Given the description of an element on the screen output the (x, y) to click on. 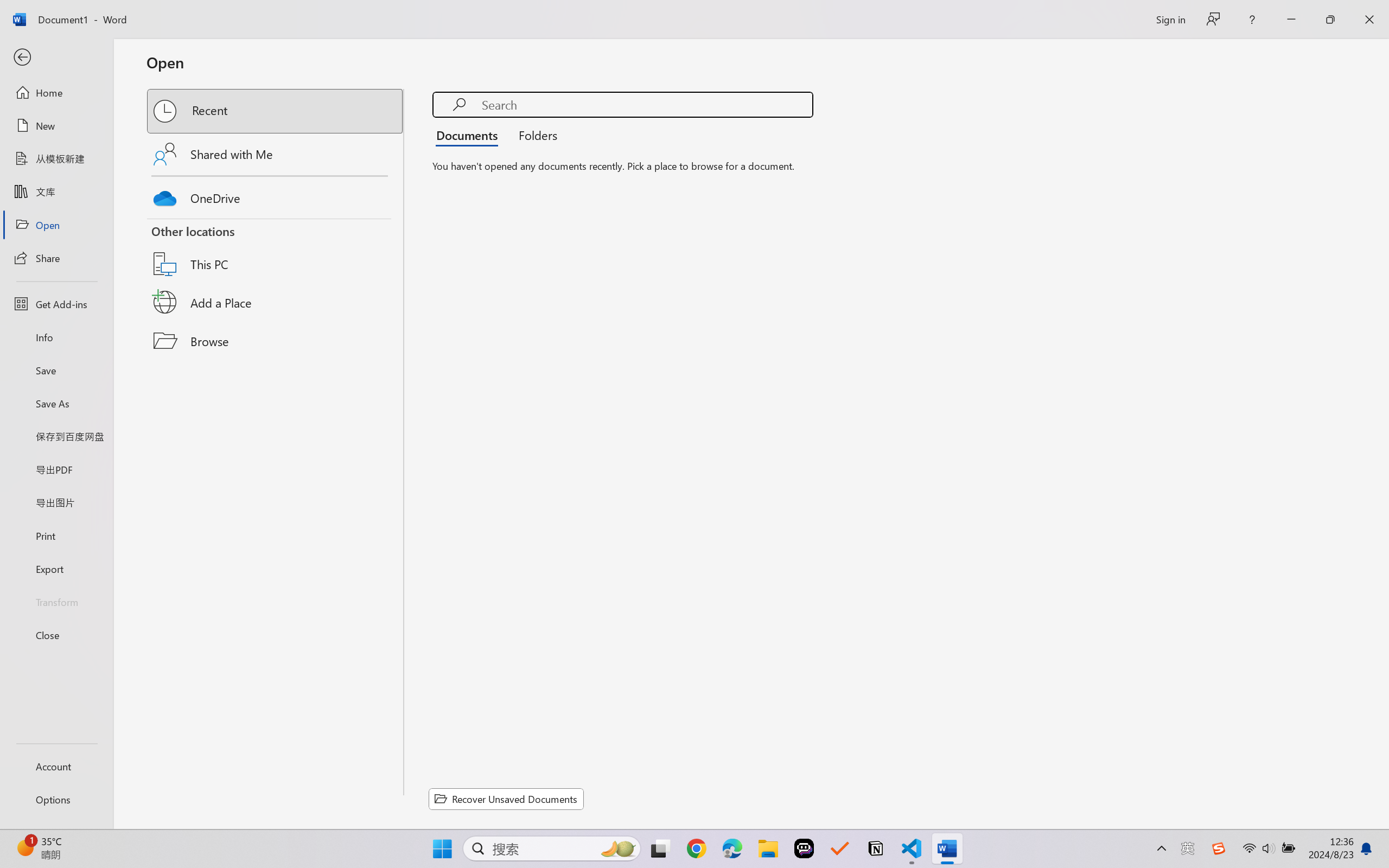
Browse (275, 340)
Recent (275, 110)
Folders (534, 134)
Shared with Me (275, 153)
Account (56, 765)
